Given the description of an element on the screen output the (x, y) to click on. 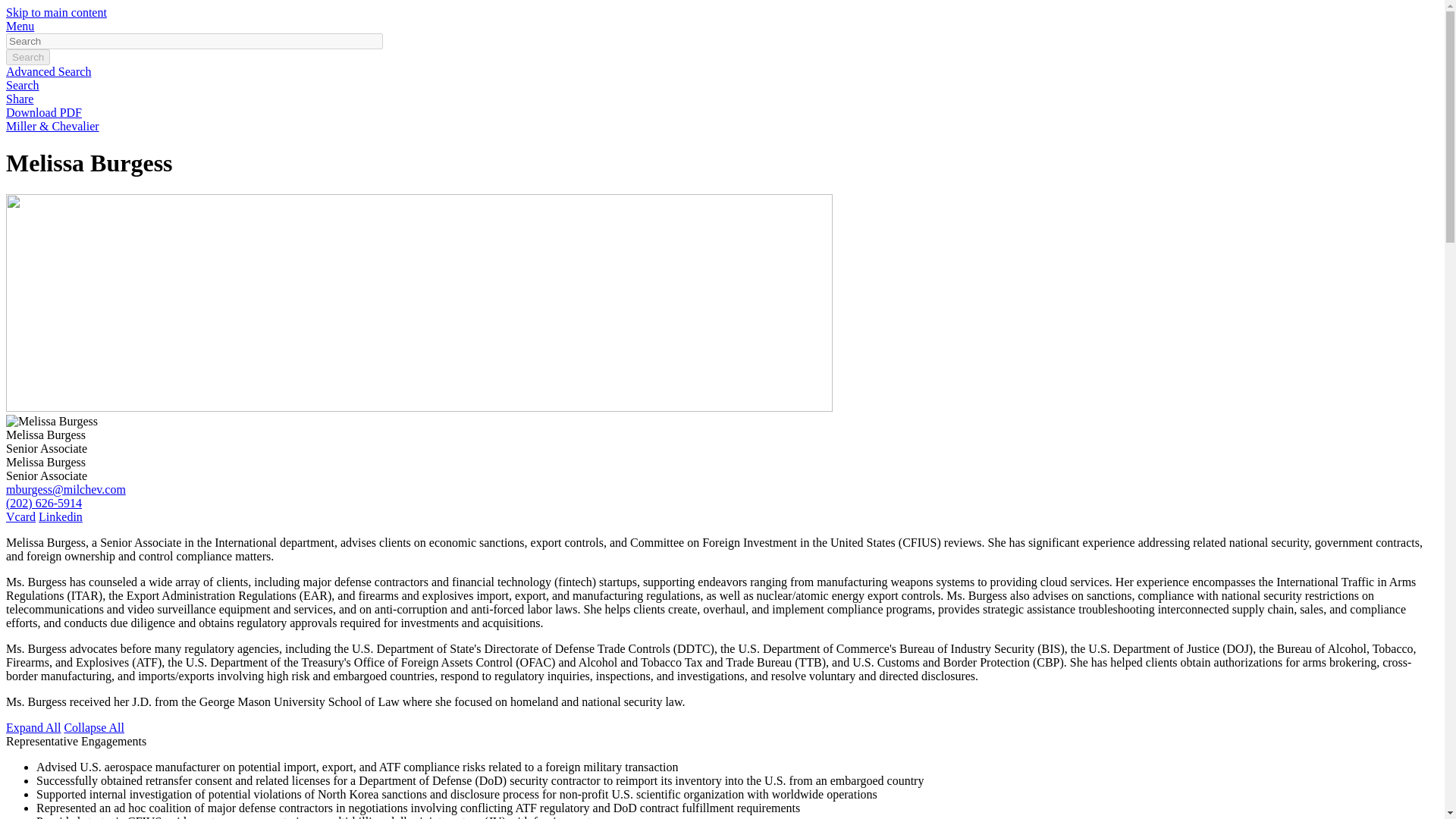
Advanced Search (47, 71)
Download PDF (43, 112)
Search (27, 57)
Menu (19, 25)
Skip to main content (55, 11)
Vcard (19, 516)
Linkedin (60, 516)
Search (22, 84)
Search (27, 57)
Collapse All (93, 727)
Expand All (33, 727)
